Given the description of an element on the screen output the (x, y) to click on. 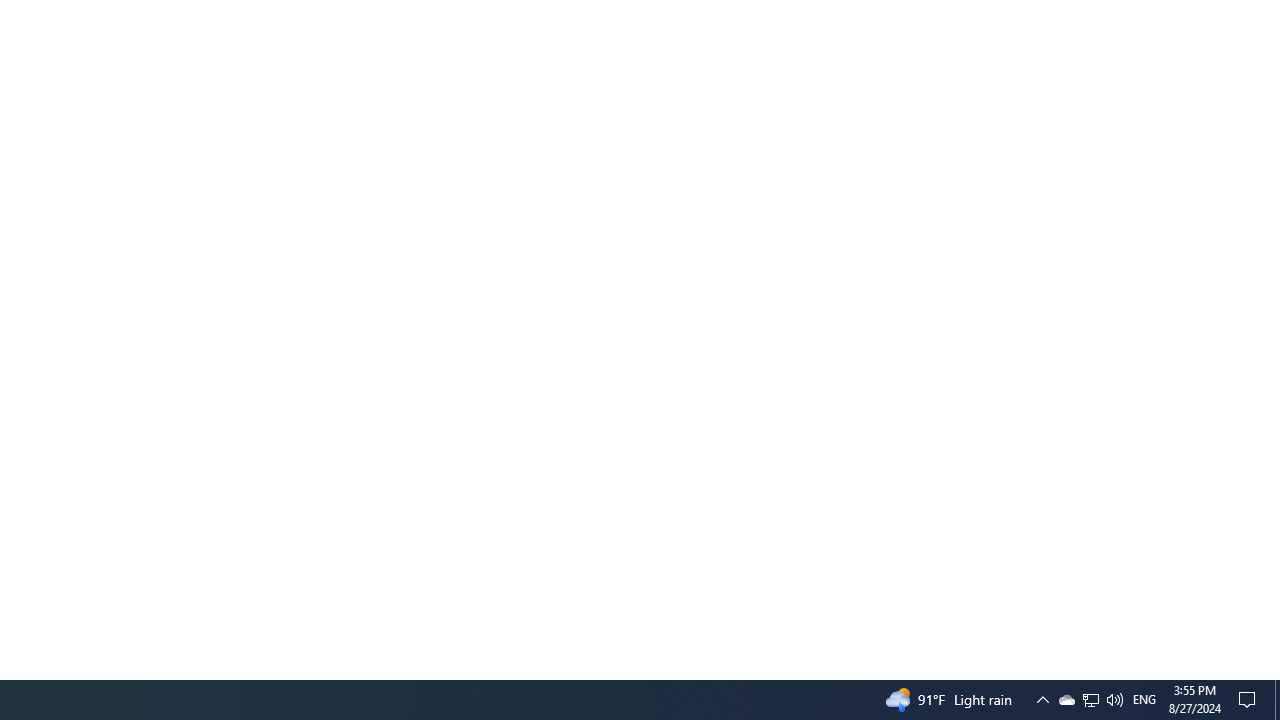
Tray Input Indicator - English (United States) (1144, 699)
